Given the description of an element on the screen output the (x, y) to click on. 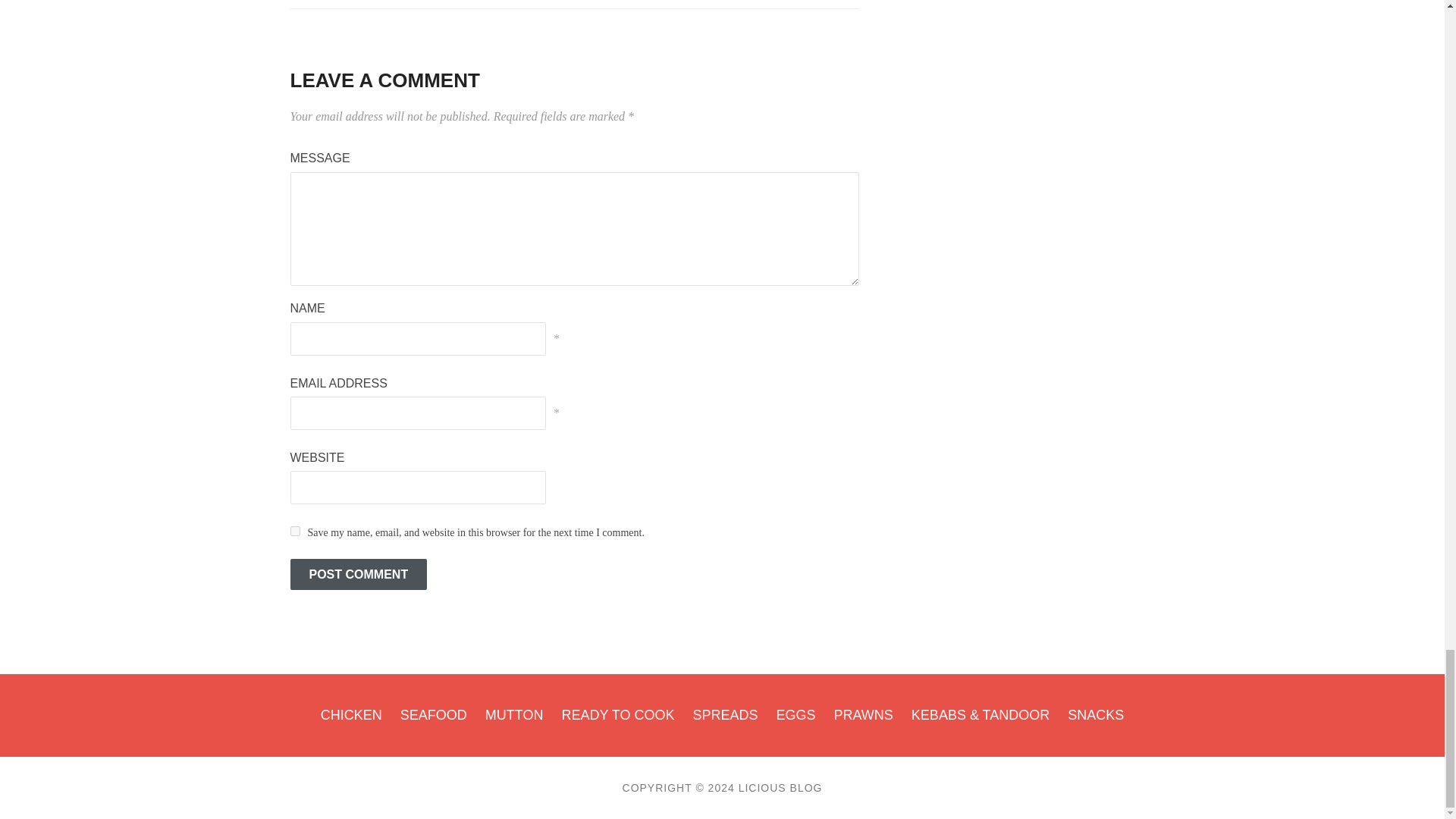
yes (294, 531)
Post Comment (357, 574)
